Given the description of an element on the screen output the (x, y) to click on. 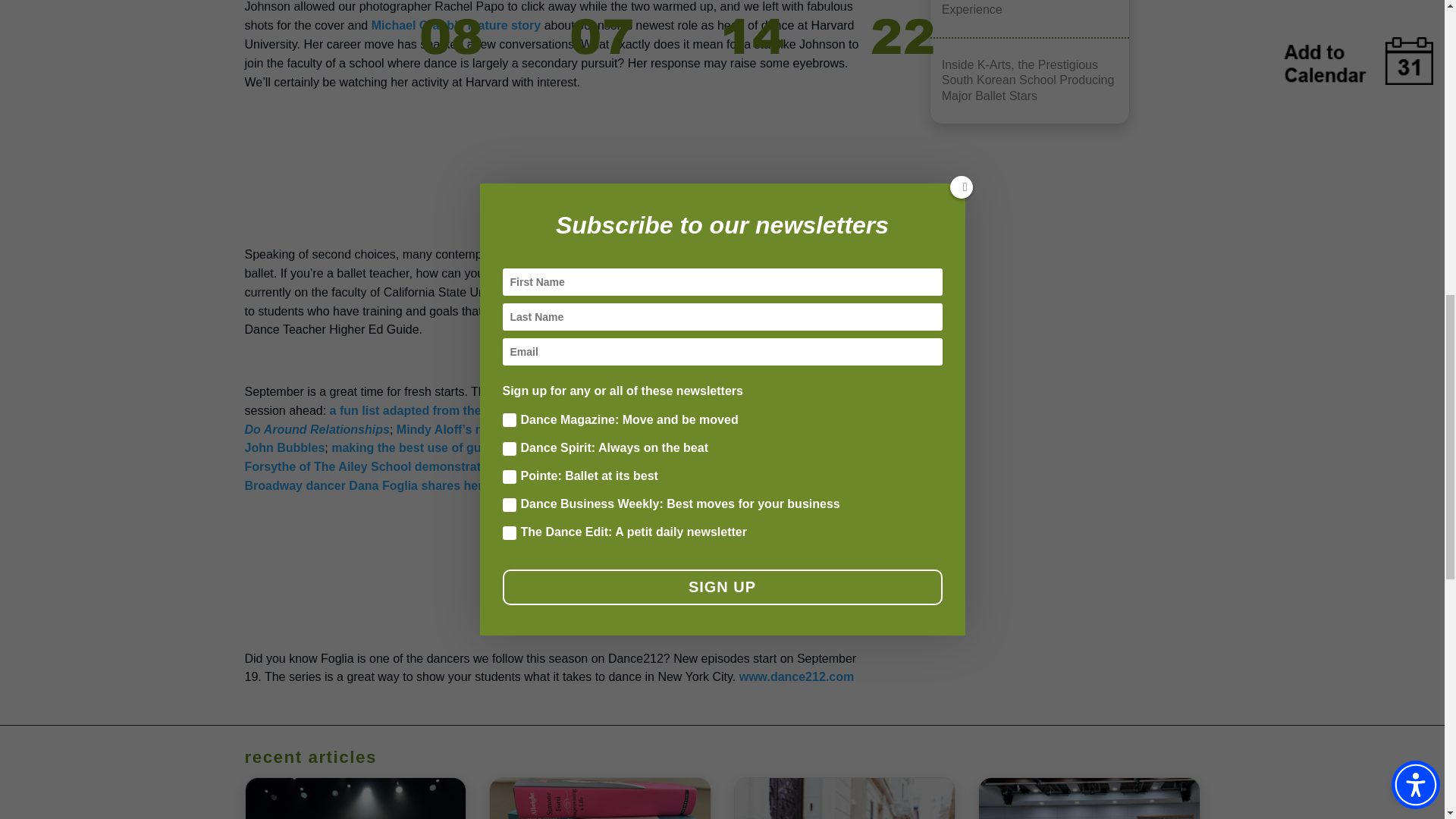
3rd party ad content (558, 566)
3rd party ad content (558, 161)
